Given the description of an element on the screen output the (x, y) to click on. 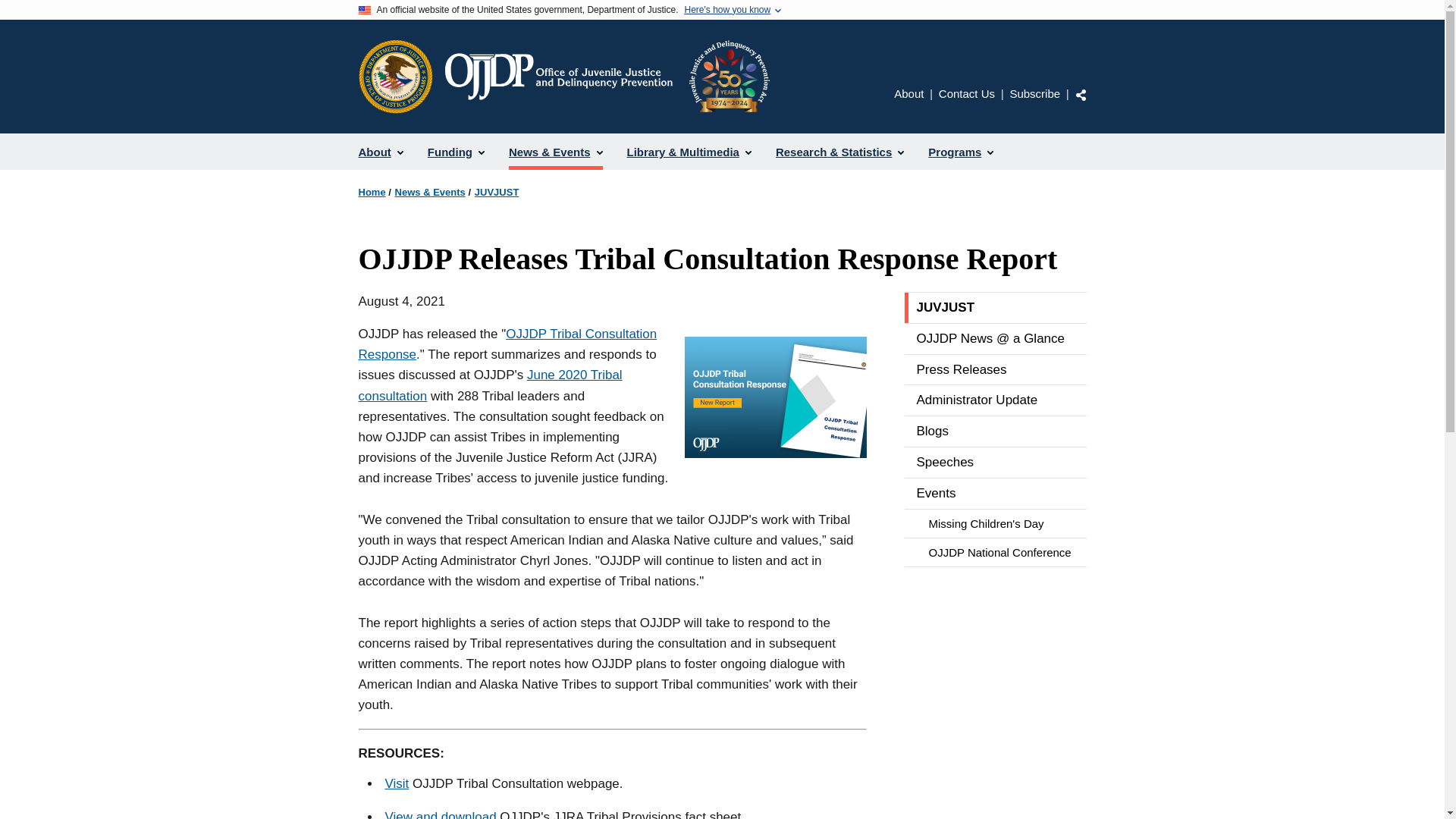
June 2020 Tribal consultation (489, 384)
OJJDP Tribal Consultation Response (507, 343)
Office of Justice Programs (395, 76)
June 2020 tribal consultation (489, 384)
OJJDP Tribal Consultation Response  (507, 343)
Press Releases (995, 369)
Events (995, 493)
Share (1080, 94)
View and download (440, 809)
Here's how you know (727, 9)
